Given the description of an element on the screen output the (x, y) to click on. 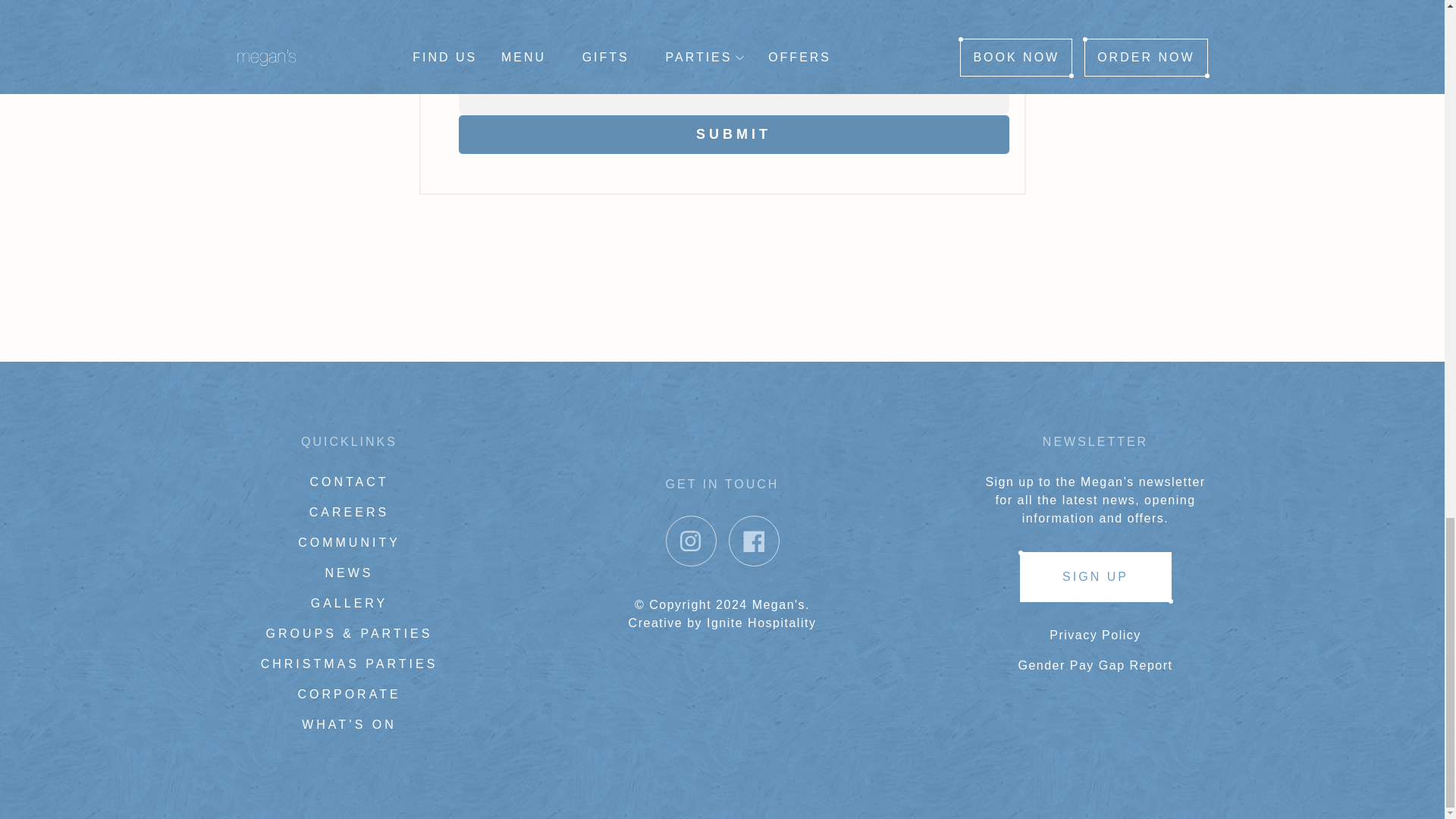
Submit (733, 134)
CAREERS (348, 512)
Submit (733, 134)
Ignite Hospitality (760, 622)
Privacy Policy (1095, 634)
Gender Pay Gap Report (1094, 665)
CONTACT (348, 481)
SIGN UP (1094, 576)
